Given the description of an element on the screen output the (x, y) to click on. 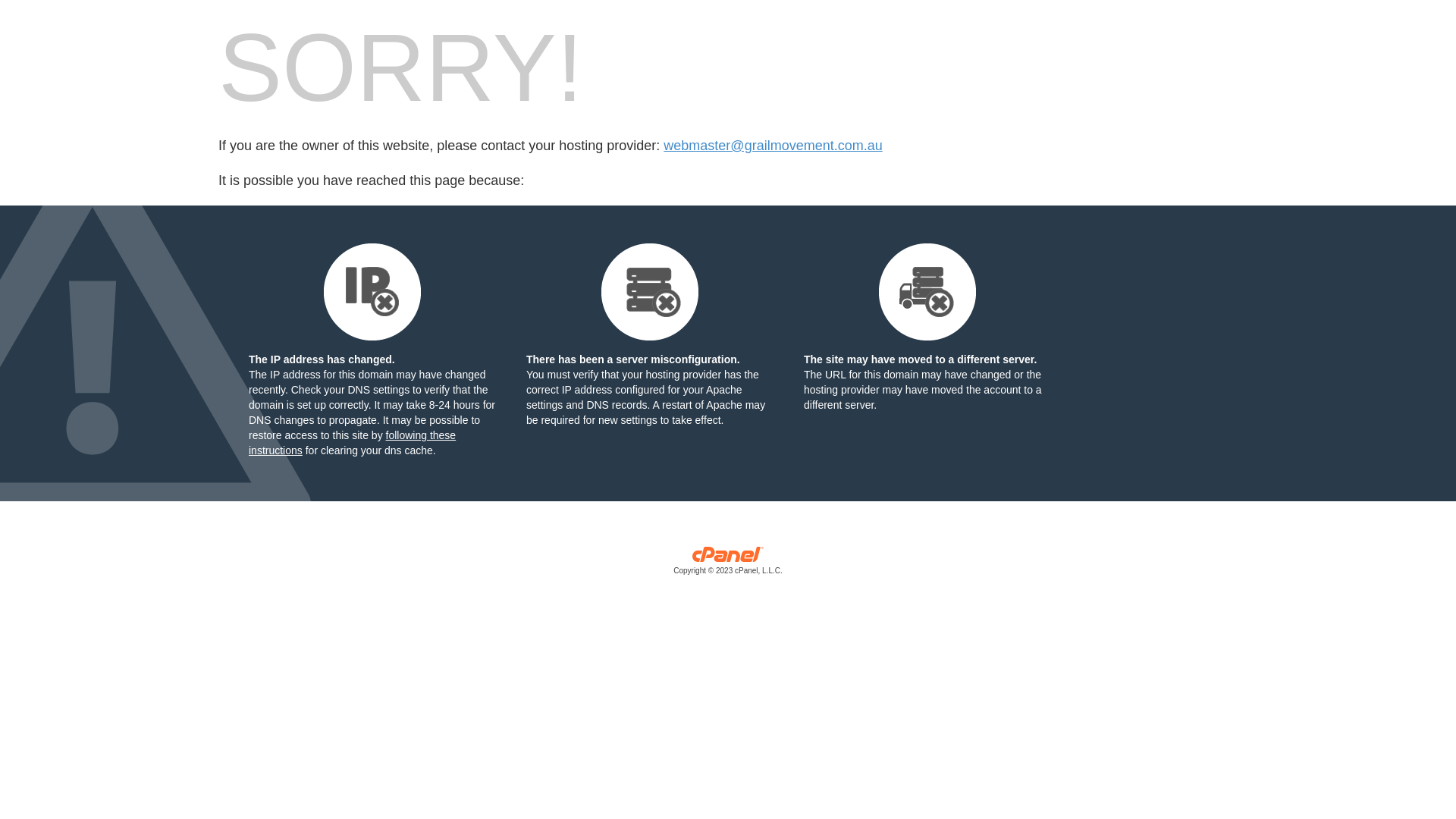
webmaster@grailmovement.com.au Element type: text (772, 145)
following these instructions Element type: text (351, 442)
